Given the description of an element on the screen output the (x, y) to click on. 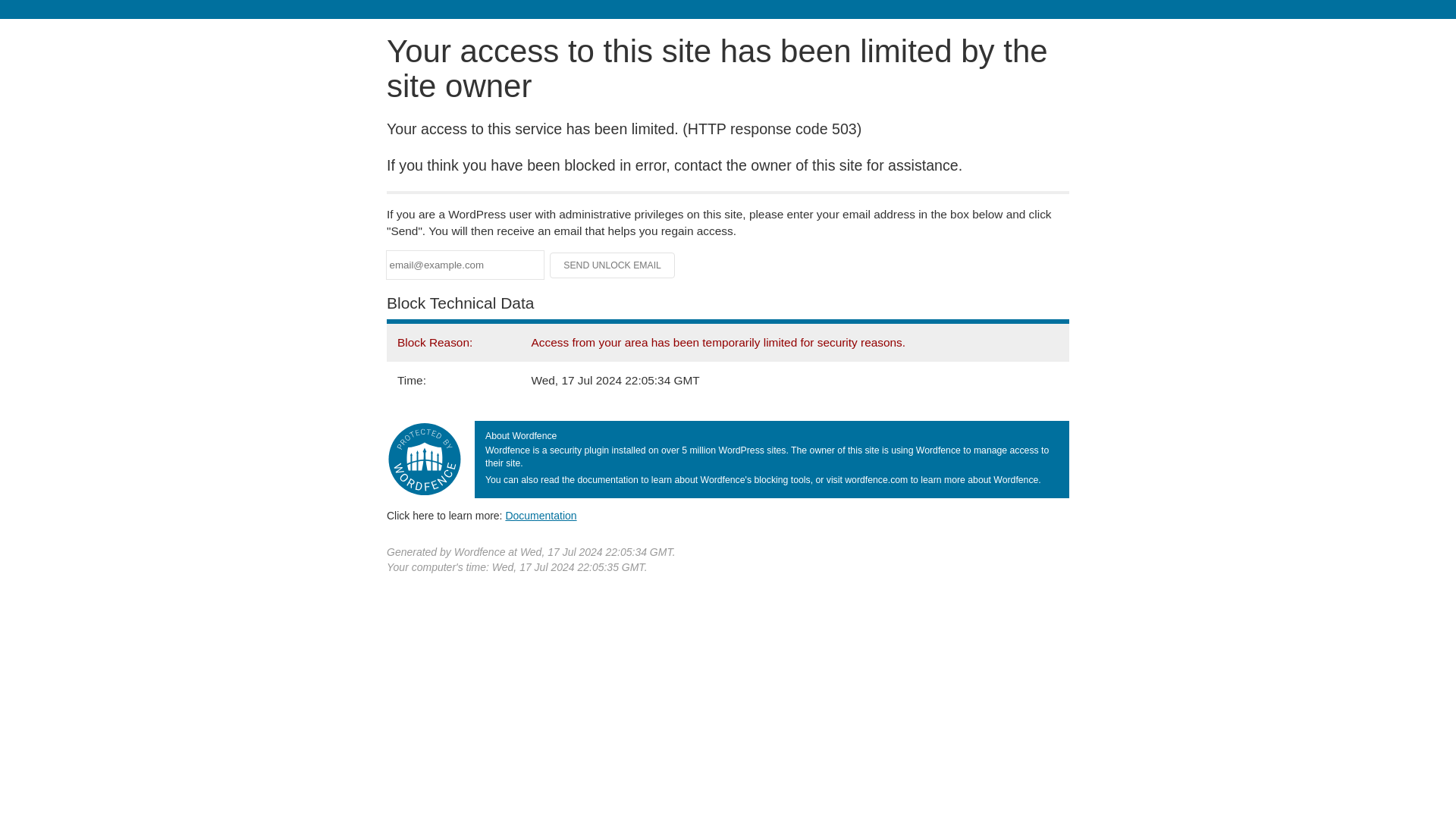
Send Unlock Email (612, 265)
Documentation (540, 515)
Send Unlock Email (612, 265)
